Given the description of an element on the screen output the (x, y) to click on. 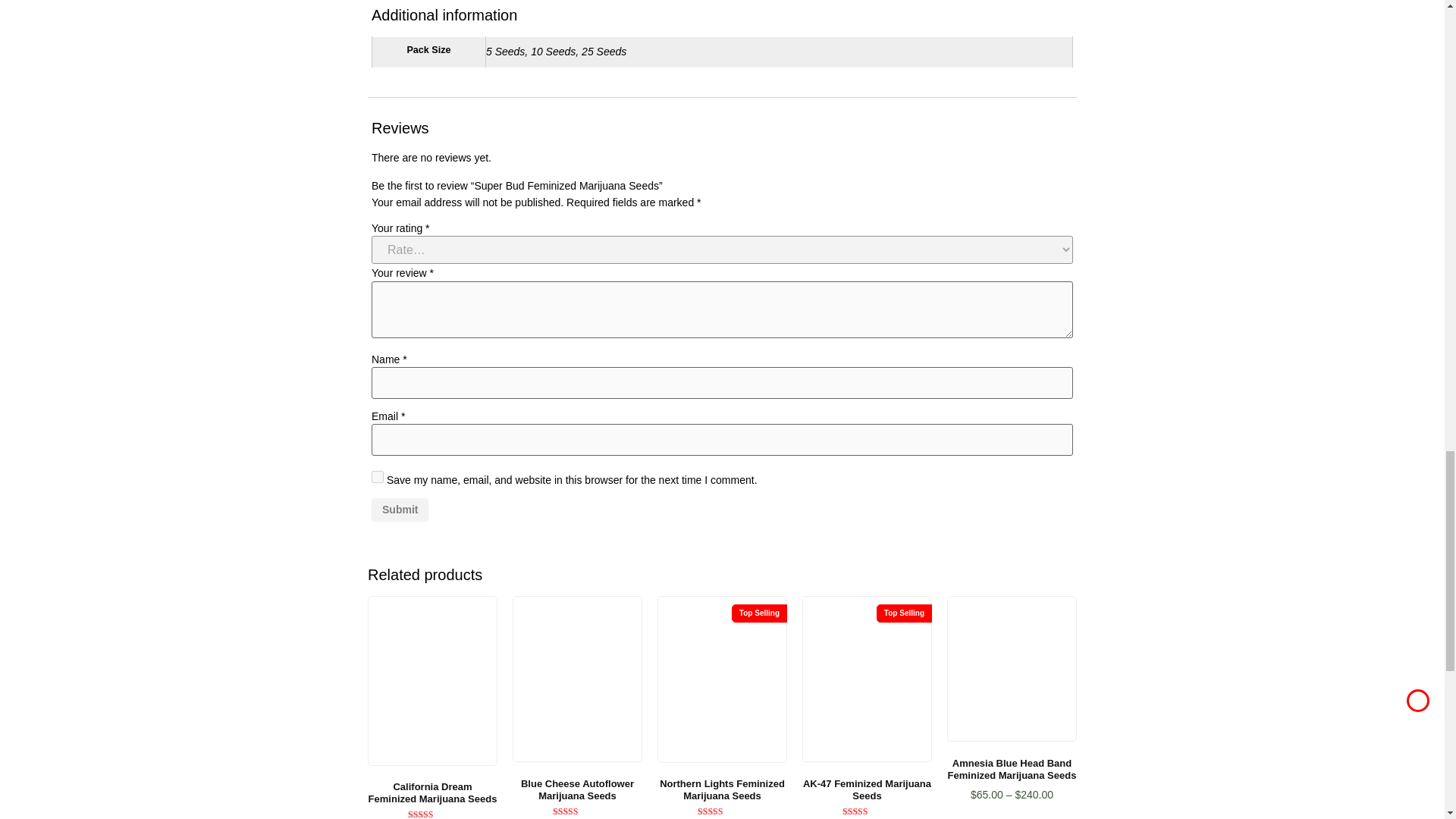
Submit (399, 509)
yes (377, 476)
Amnesia Blue Head Band Feminized Marijuana Seeds (1012, 669)
